Given the description of an element on the screen output the (x, y) to click on. 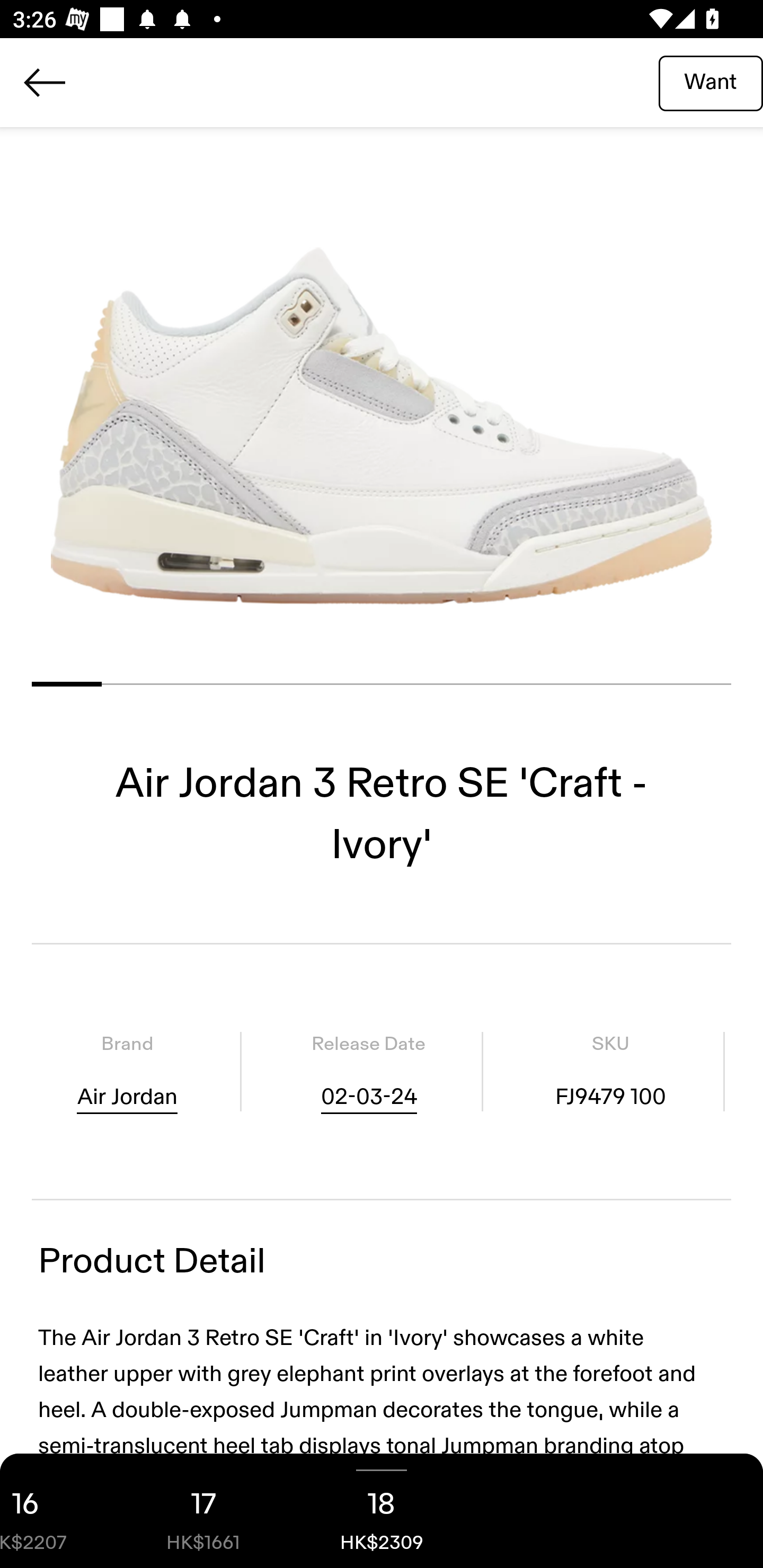
Want (710, 82)
Brand Air Jordan (126, 1070)
Release Date 02-03-24 (368, 1070)
SKU FJ9479 100 (609, 1070)
16 HK$2207 (57, 1510)
17 HK$1661 (203, 1510)
18 HK$2309 (381, 1510)
